Given the description of an element on the screen output the (x, y) to click on. 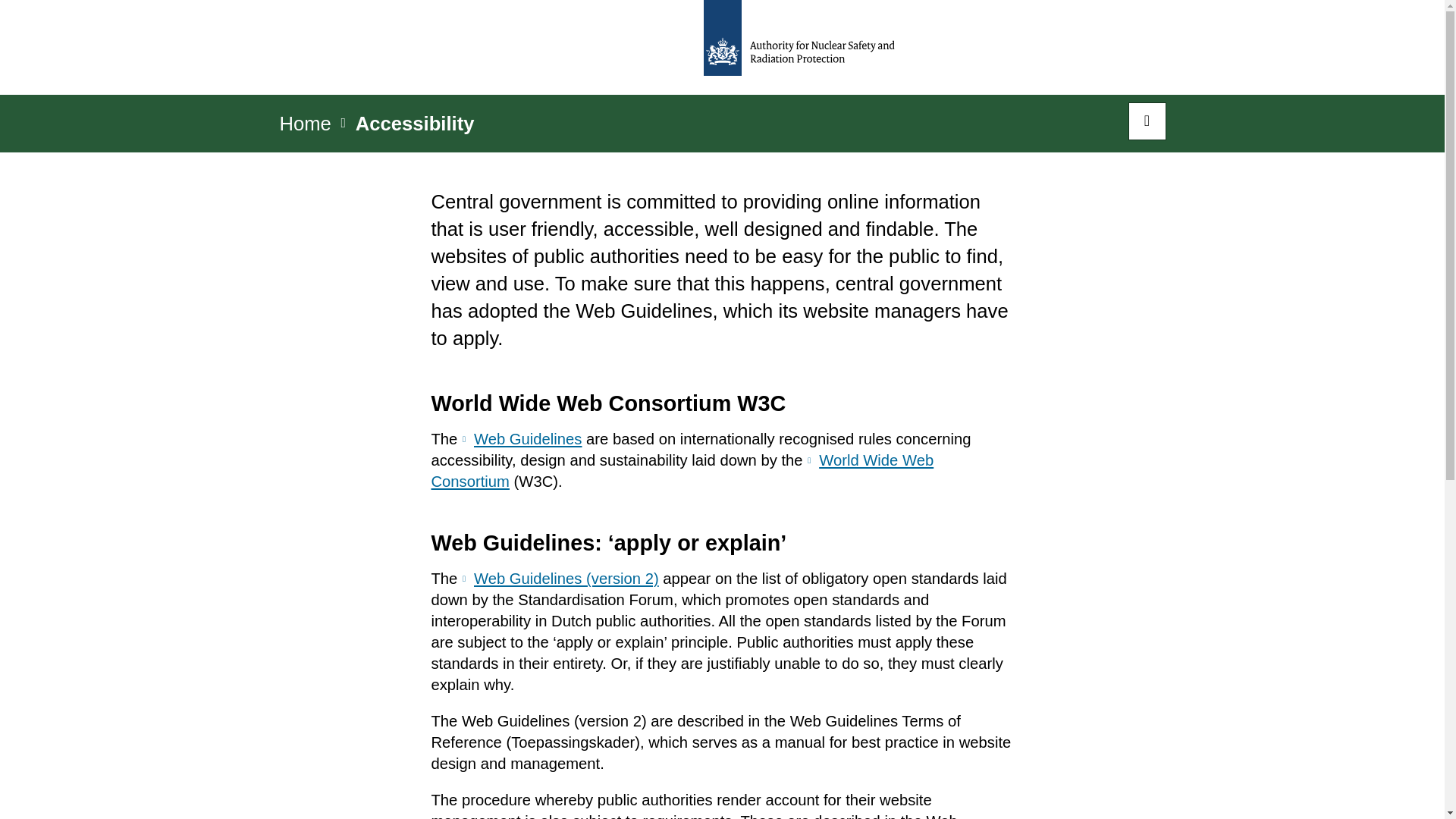
World Wide Web Consortium (681, 470)
Open search box (1146, 121)
Web Guidelines (520, 438)
Home (304, 128)
Open search box (1146, 121)
